Given the description of an element on the screen output the (x, y) to click on. 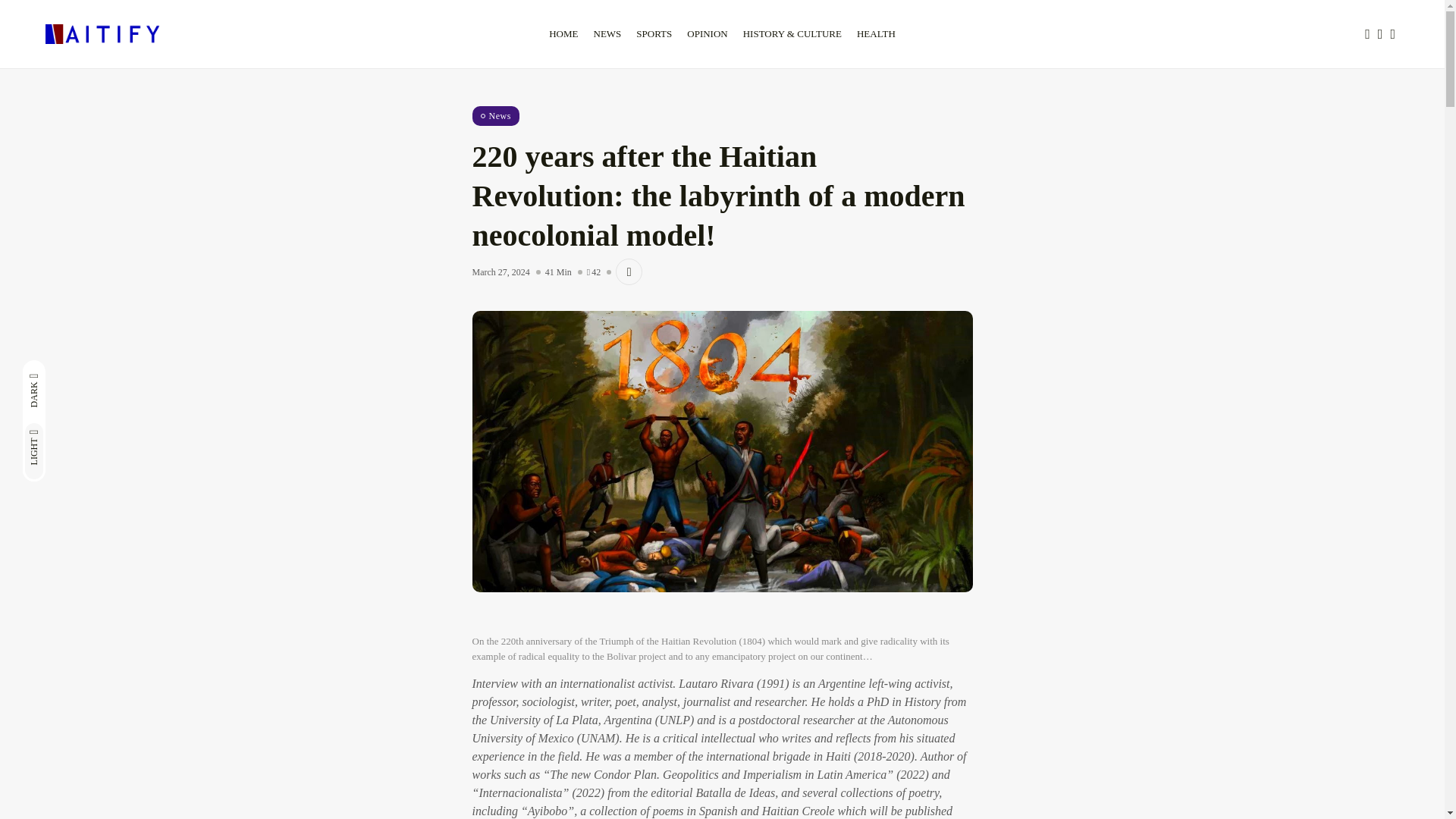
NEWS (606, 33)
HOME (563, 33)
HEALTH (875, 33)
SPORTS (653, 33)
on (83, 371)
OPINION (707, 33)
